Given the description of an element on the screen output the (x, y) to click on. 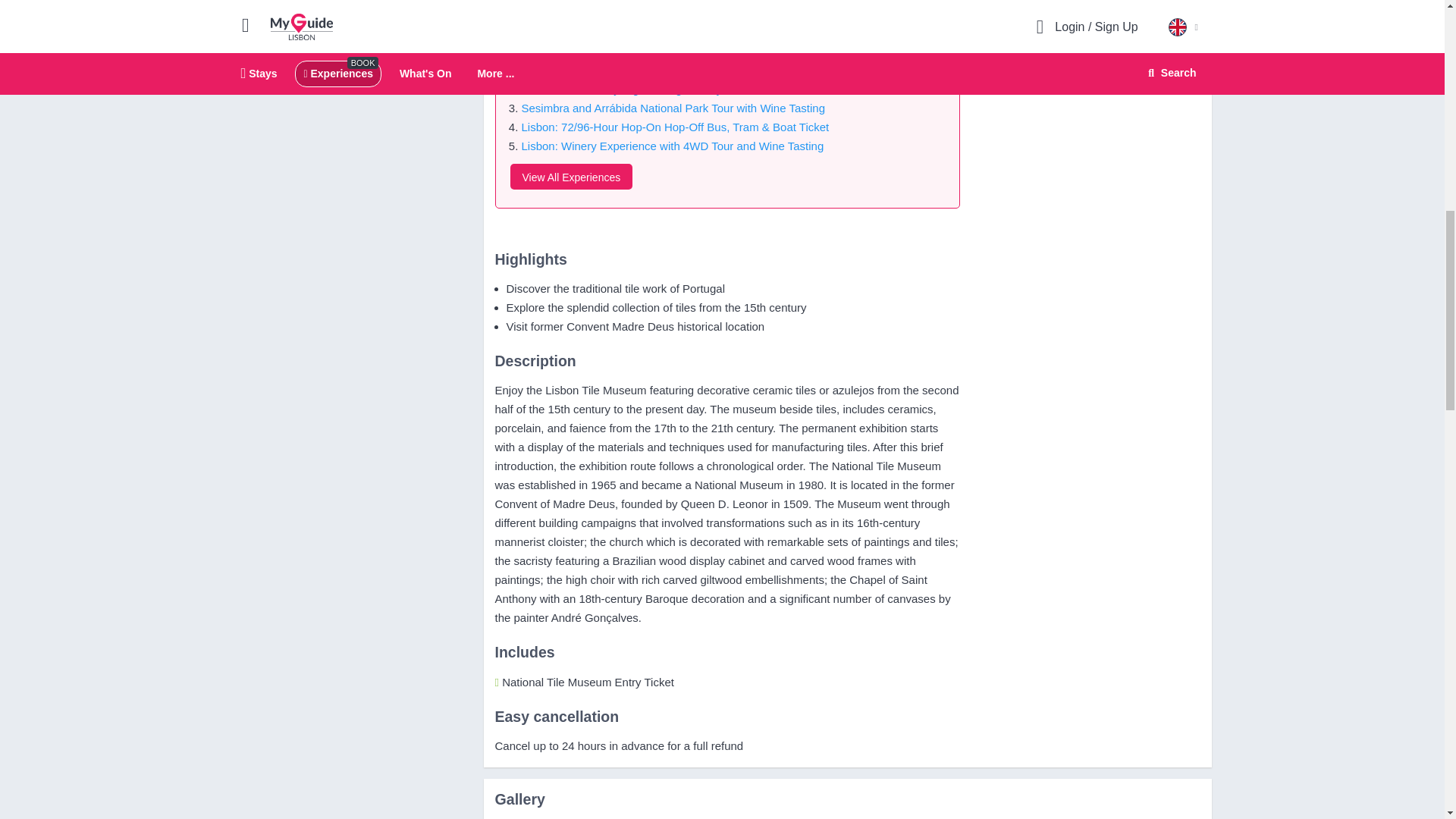
GetYourGuide Widget (1087, 8)
View All Experiences (570, 176)
